Given the description of an element on the screen output the (x, y) to click on. 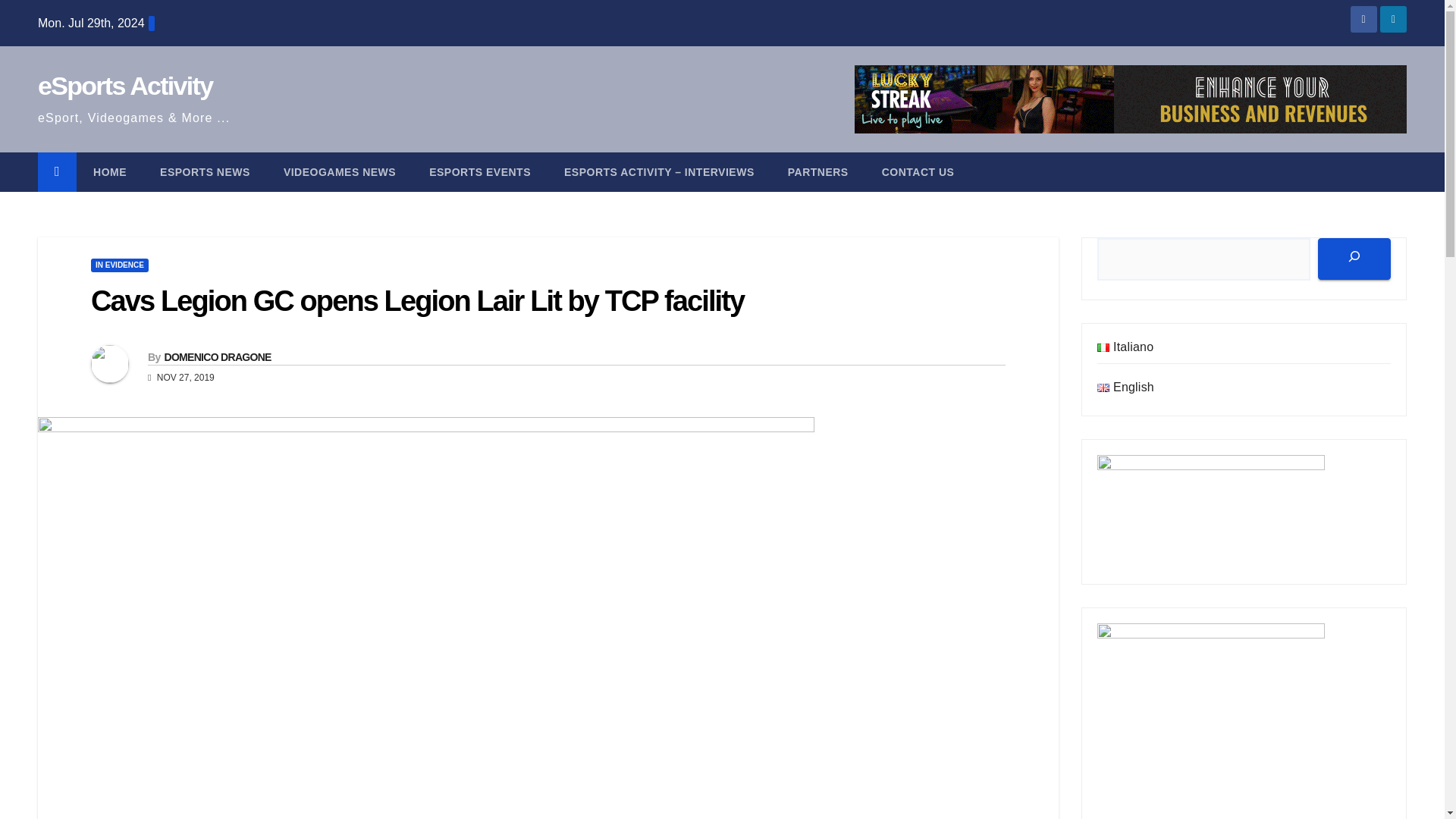
ESPORTS NEWS (204, 171)
DOMENICO DRAGONE (216, 357)
HOME (109, 171)
ESPORTS EVENTS (479, 171)
PARTNERS (817, 171)
HOME (109, 171)
eSports Activity - Interviews (659, 171)
eSports Events (479, 171)
IN EVIDENCE (119, 264)
Partners (817, 171)
VIDEOGAMES NEWS (339, 171)
Contact Us (917, 171)
eSports News (204, 171)
Cavs Legion GC opens Legion Lair Lit by TCP facility (417, 300)
eSports Activity (124, 85)
